Given the description of an element on the screen output the (x, y) to click on. 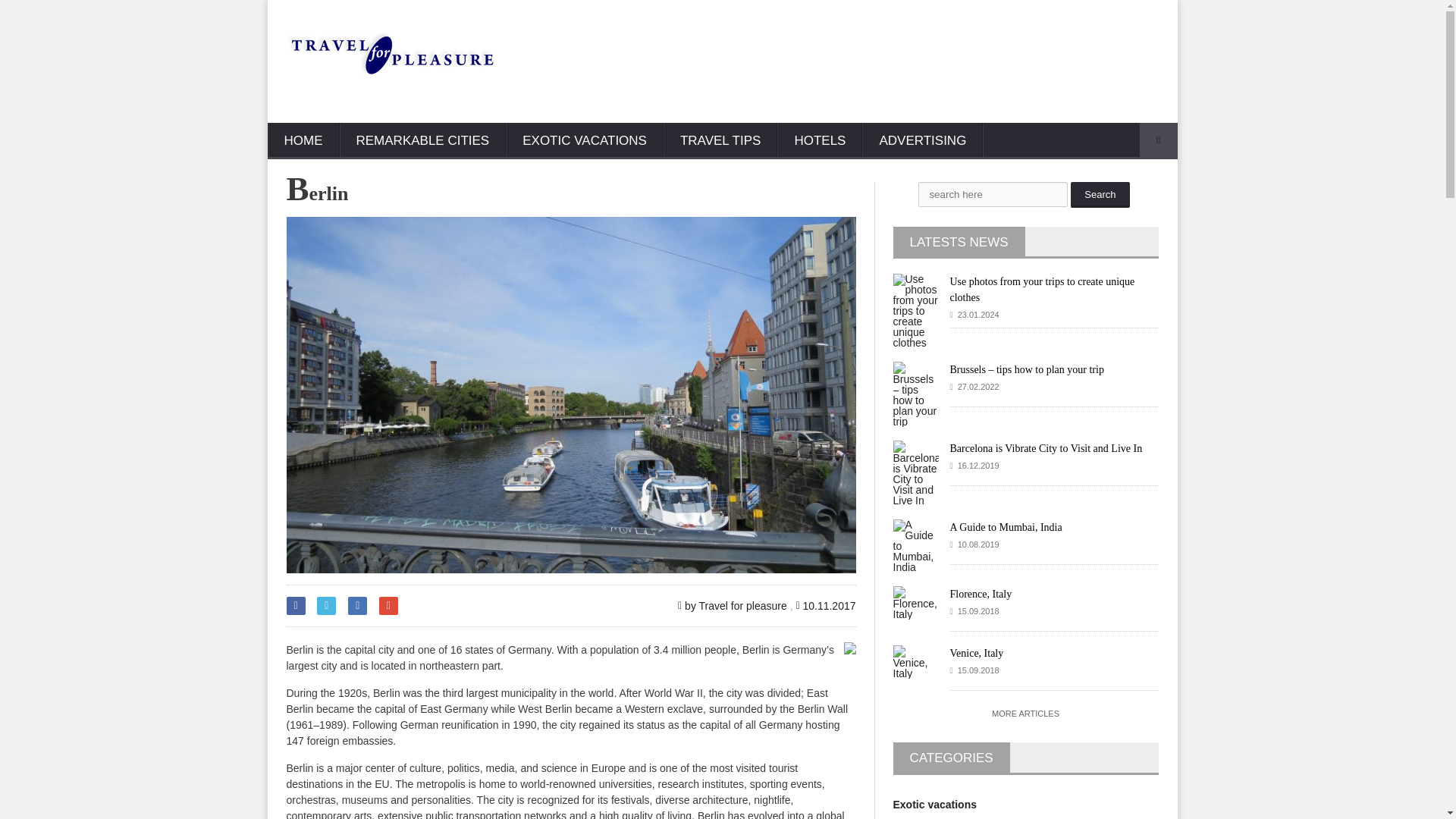
ADVERTISING (921, 140)
EXOTIC VACATIONS (584, 140)
HOTELS (819, 140)
by Travel for pleasure (732, 605)
TRAVEL TIPS (720, 140)
Use photos from your trips to create unique clothes (1041, 289)
REMARKABLE CITIES (422, 140)
Search (1099, 194)
Posts by Travel for pleasure (732, 605)
10.11.2017 (825, 605)
HOME (302, 140)
Search (1099, 194)
